Given the description of an element on the screen output the (x, y) to click on. 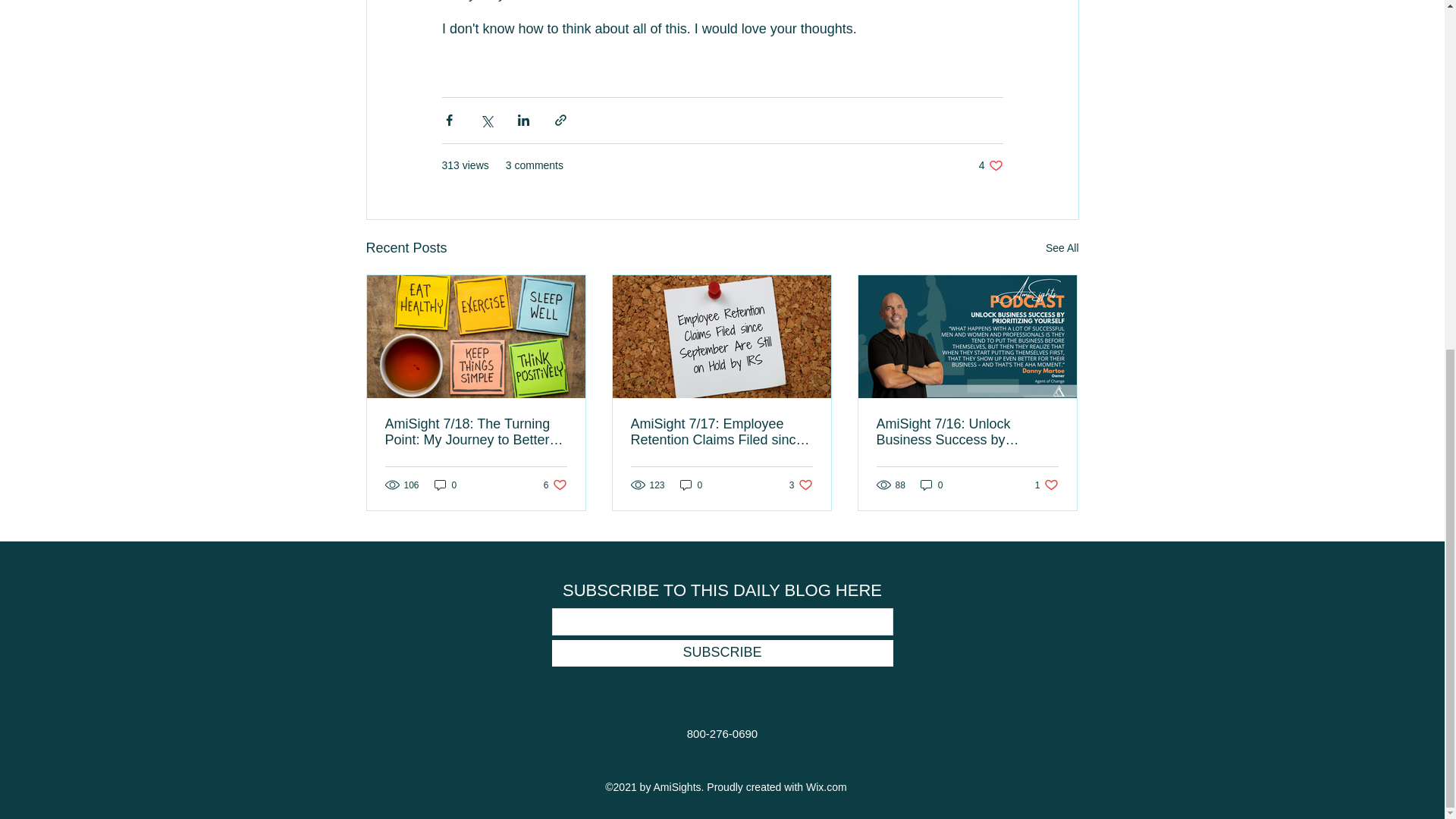
0 (555, 484)
0 (990, 165)
See All (691, 484)
0 (931, 484)
SUBSCRIBE (1046, 484)
